Given the description of an element on the screen output the (x, y) to click on. 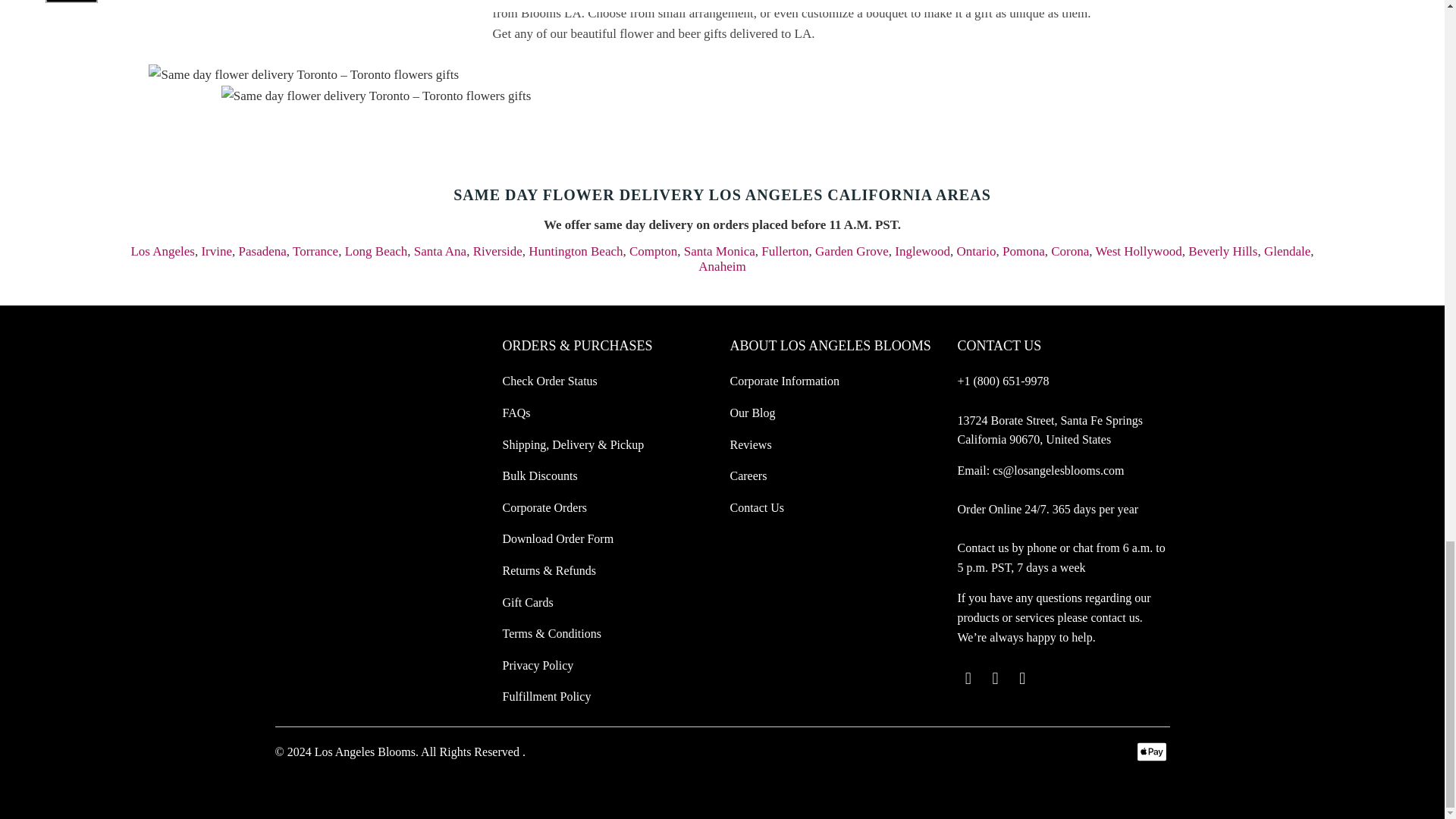
Los Angeles Blooms on Facebook (995, 678)
Los Angeles Blooms on Twitter (967, 678)
Los Angeles Blooms on Instagram (1022, 678)
